Given the description of an element on the screen output the (x, y) to click on. 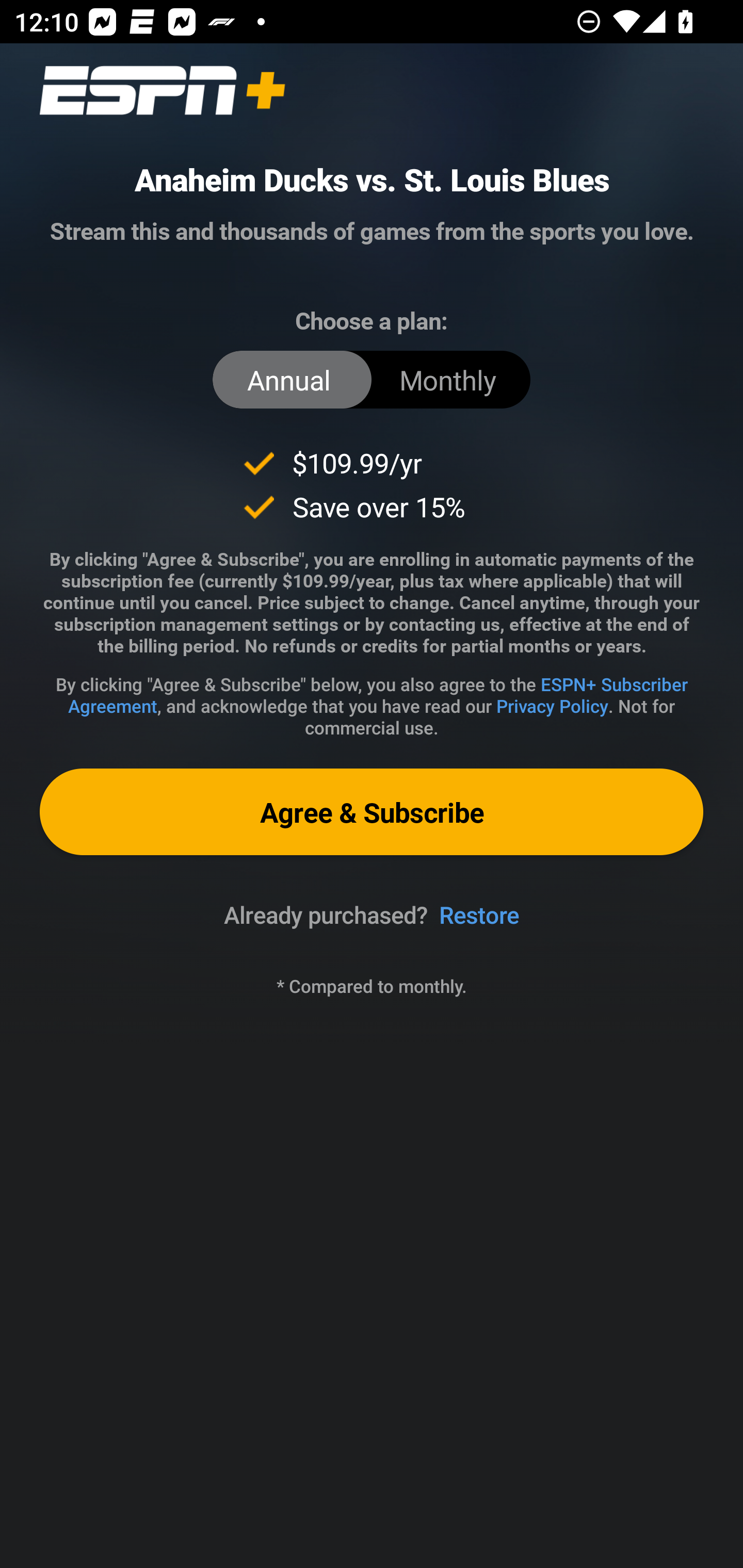
Agree & Subscribe (371, 811)
